Given the description of an element on the screen output the (x, y) to click on. 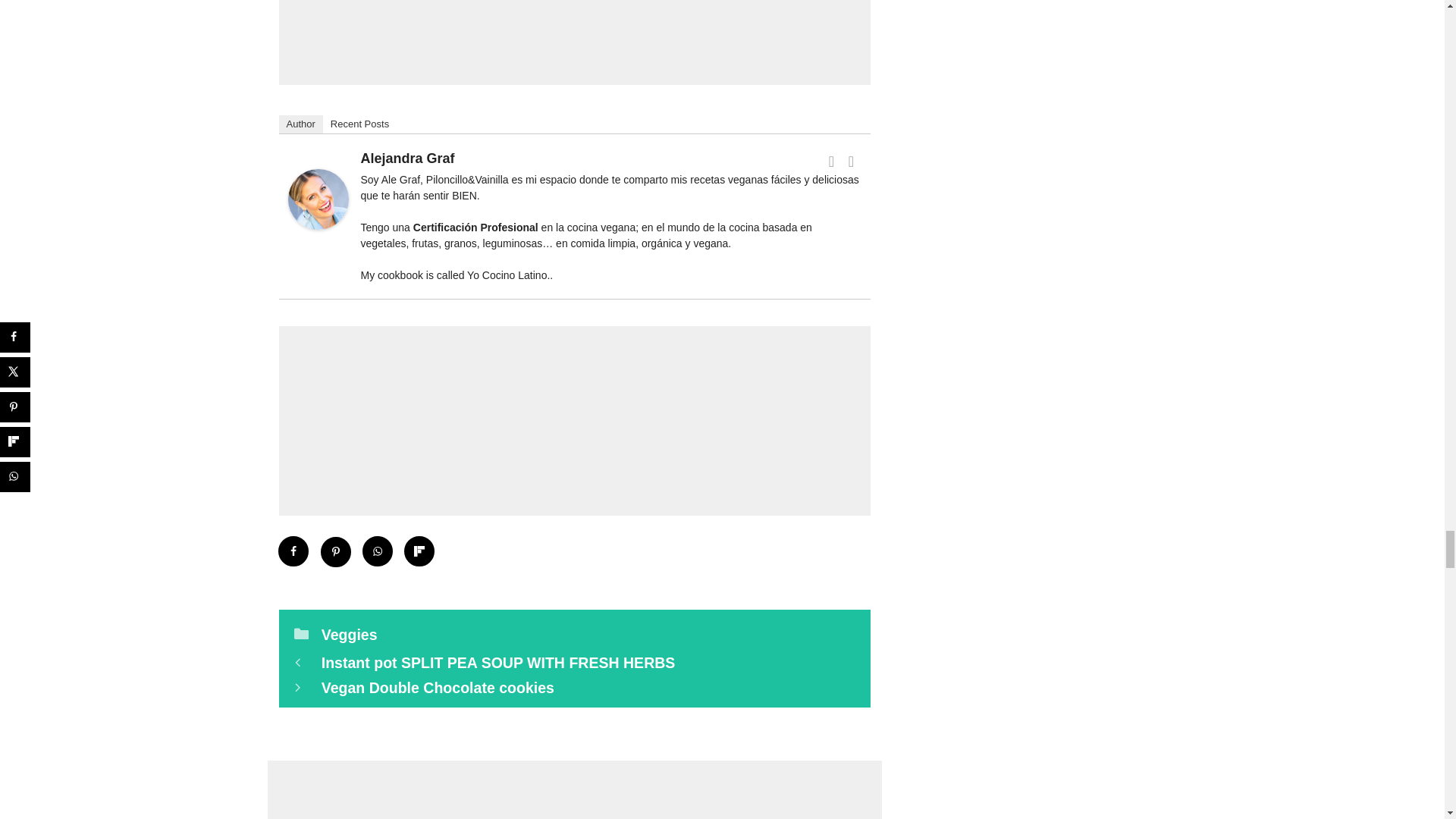
Share on Flipboard (419, 552)
Share on Facebook (293, 552)
Facebook (831, 161)
Save to Pinterest (335, 552)
Alejandra Graf (318, 235)
Twitter (850, 161)
Share on WhatsApp (377, 552)
